Given the description of an element on the screen output the (x, y) to click on. 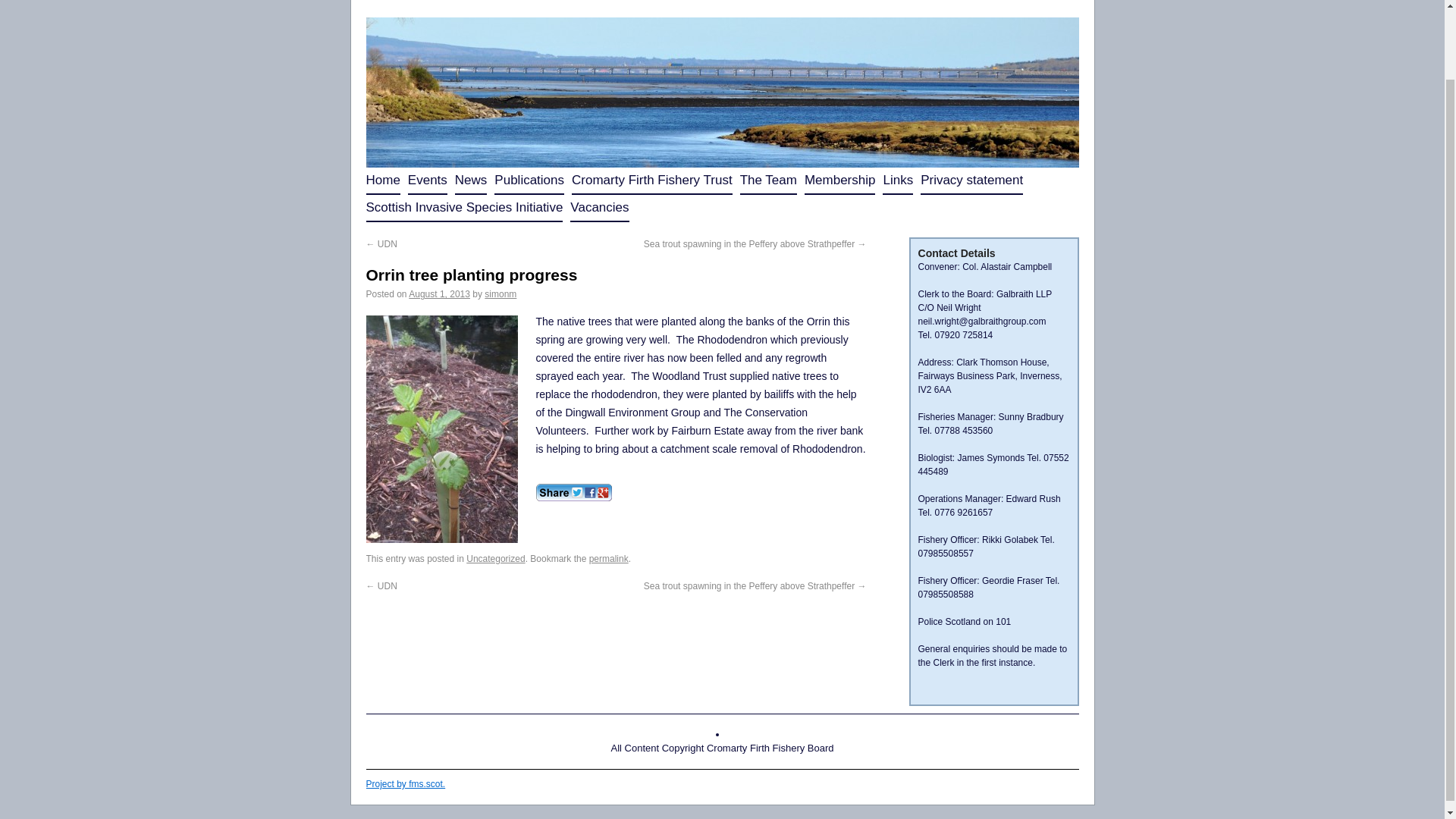
News (470, 180)
FMS (405, 783)
Scottish Invasive Species Initiative (463, 207)
Publications (529, 180)
Uncategorized (494, 558)
10:28 am (439, 294)
Permalink to Orrin tree planting progress (608, 558)
Events (426, 180)
permalink (608, 558)
simonm (500, 294)
